Given the description of an element on the screen output the (x, y) to click on. 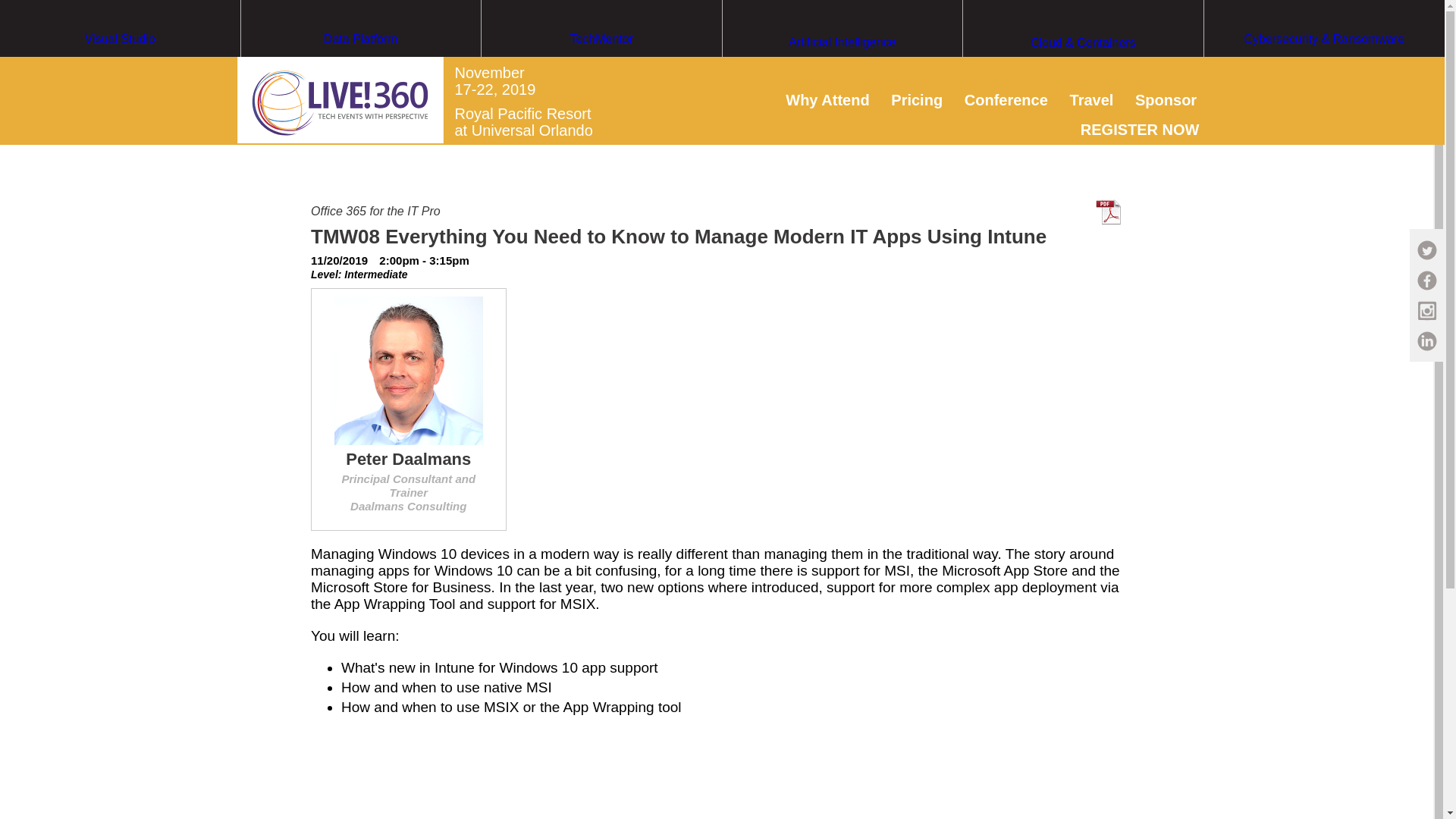
Data Platform (361, 67)
Why Attend (827, 99)
Visual Studio (120, 67)
Conference (1005, 99)
Pricing (916, 99)
Artificial Intelligence (842, 70)
TechMentor (601, 67)
